Given the description of an element on the screen output the (x, y) to click on. 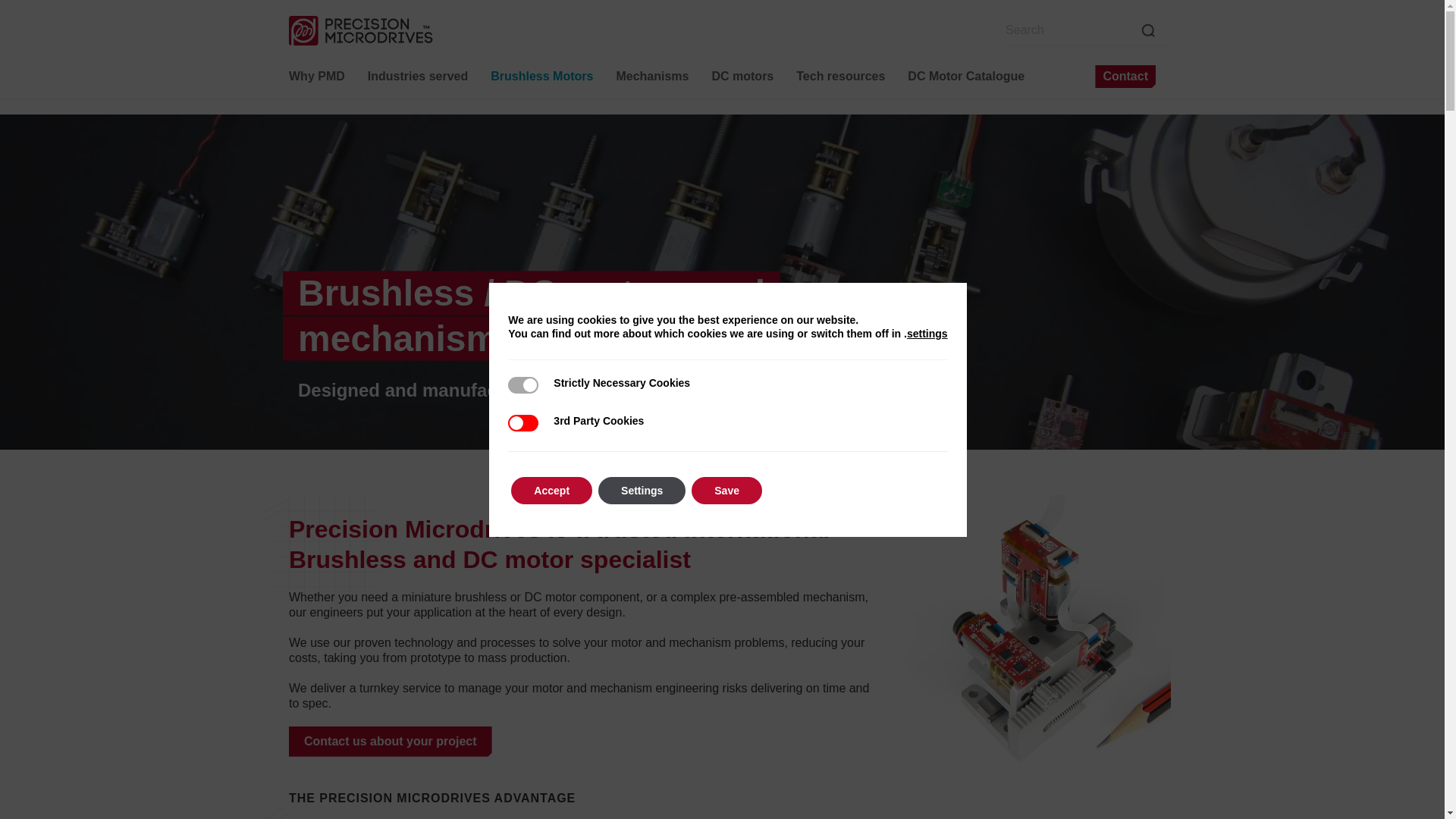
Why PMD (317, 76)
Tech resources (840, 76)
Brushless Motors (541, 76)
Contact (1125, 76)
DC Motor Catalogue (965, 76)
DC motors (742, 76)
Contact us about your project (390, 741)
Industries served (417, 76)
Mechanisms (652, 76)
